Given the description of an element on the screen output the (x, y) to click on. 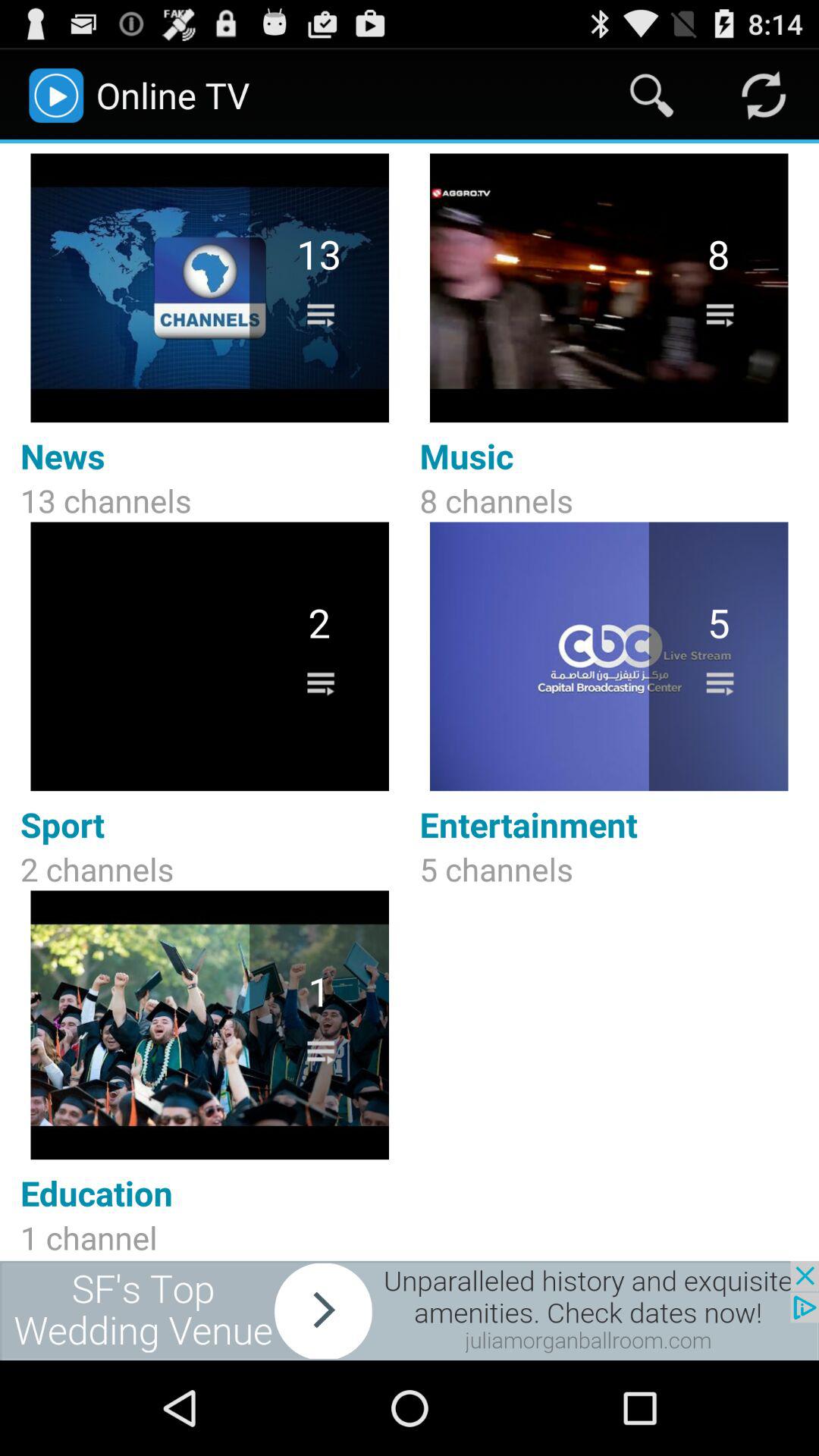
sponsored content (409, 1310)
